Given the description of an element on the screen output the (x, y) to click on. 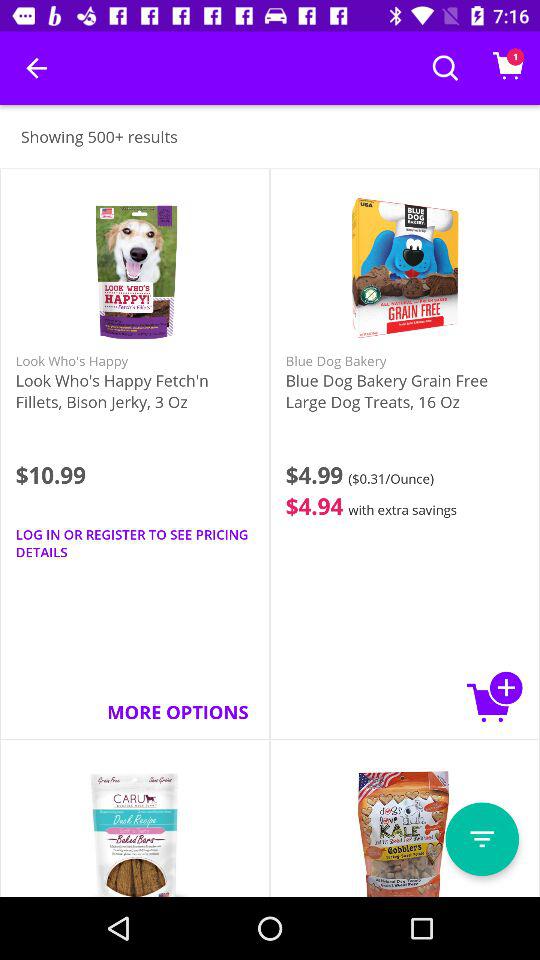
jump until the log in or item (134, 543)
